Given the description of an element on the screen output the (x, y) to click on. 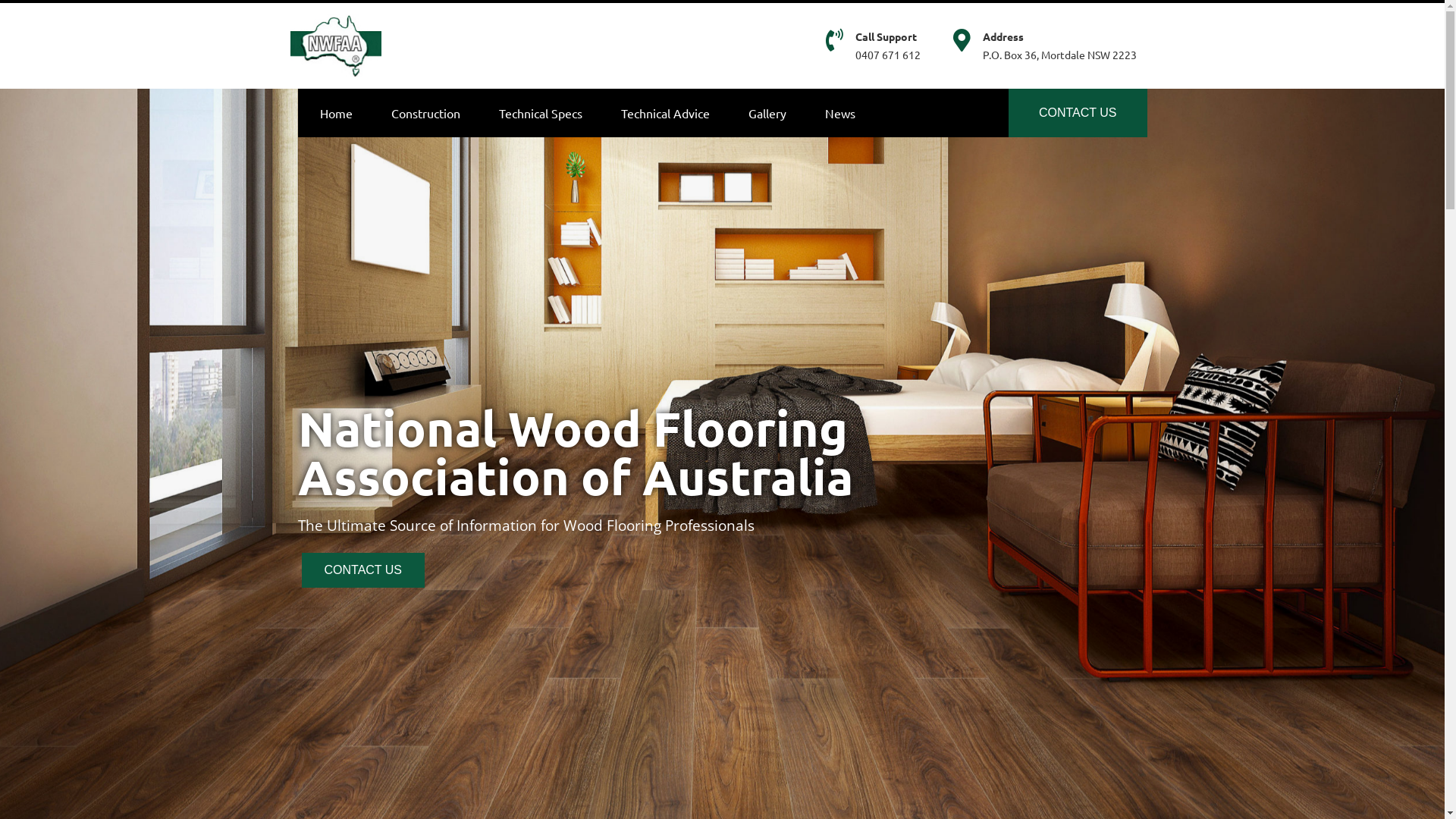
Technical Advice Element type: text (665, 111)
Home Element type: text (335, 111)
CONTACT US Element type: text (363, 569)
CONTACT US Element type: text (1077, 111)
Construction Element type: text (424, 111)
News Element type: text (839, 111)
Technical Specs Element type: text (539, 111)
Gallery Element type: text (767, 111)
